Given the description of an element on the screen output the (x, y) to click on. 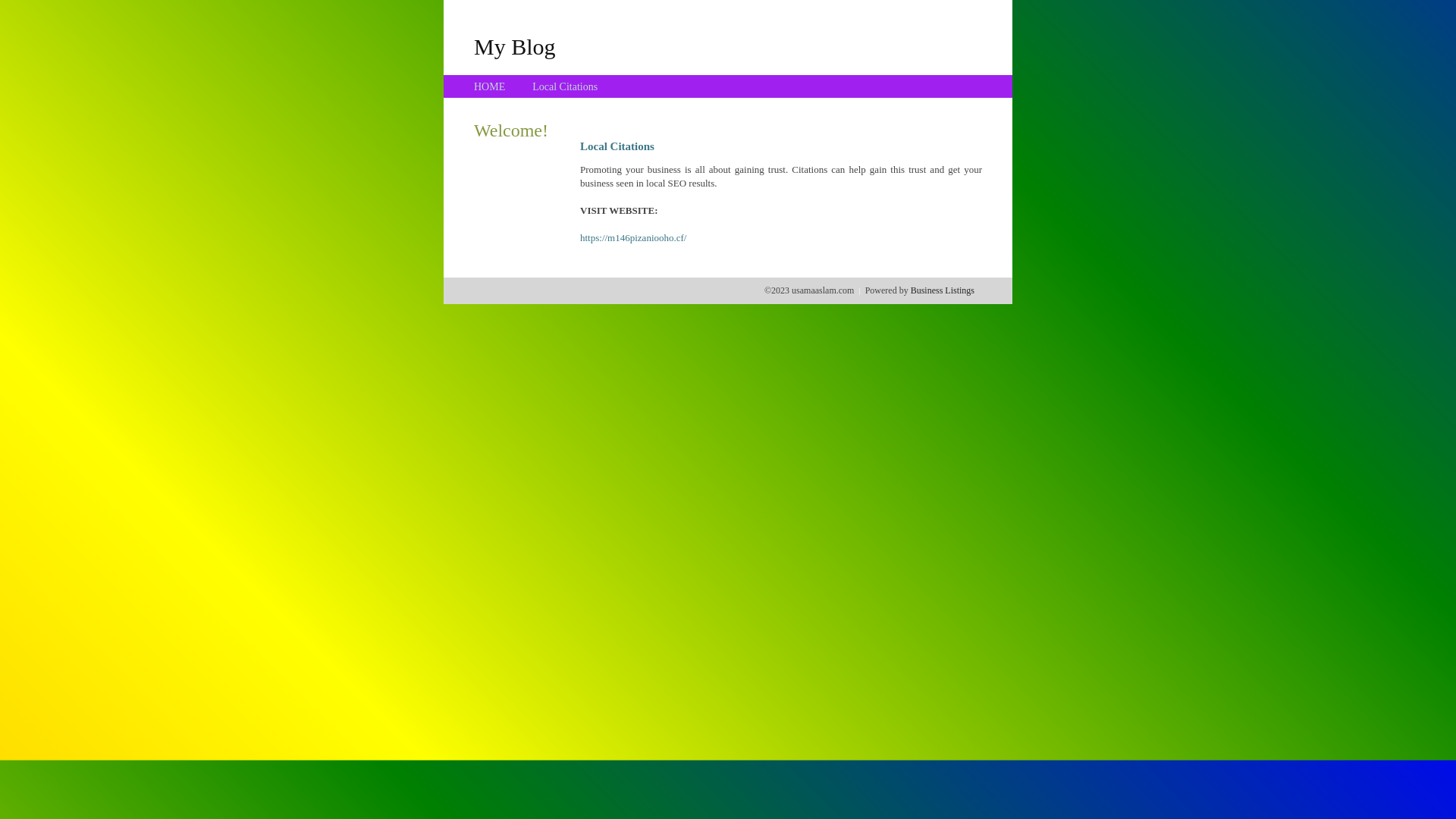
https://m146pizaniooho.cf/ Element type: text (633, 237)
My Blog Element type: text (514, 46)
Business Listings Element type: text (942, 290)
Local Citations Element type: text (564, 86)
HOME Element type: text (489, 86)
